Given the description of an element on the screen output the (x, y) to click on. 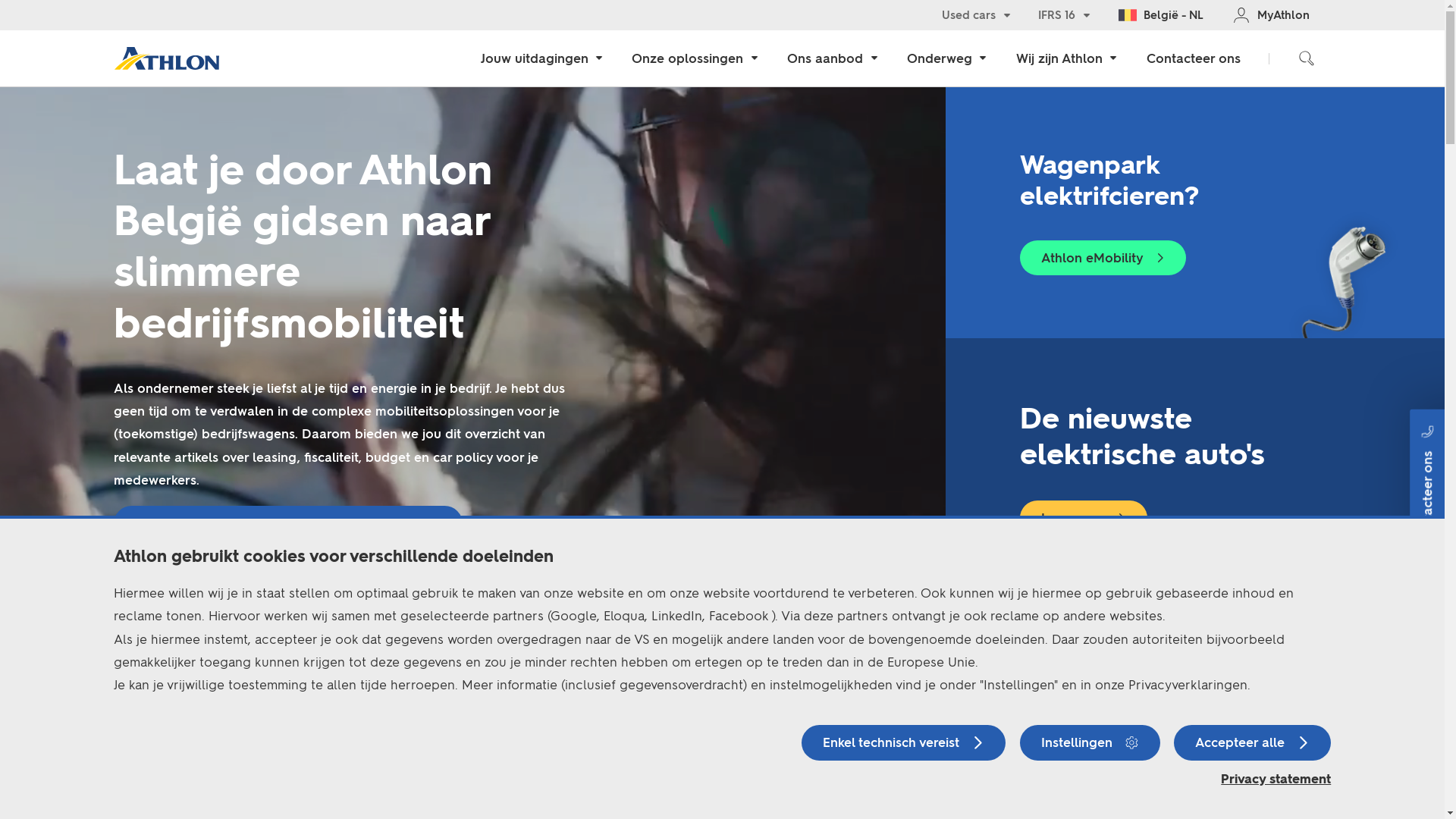
Ons aanbod Element type: text (832, 58)
Zoeken Element type: text (1307, 58)
Contacteer ons Element type: text (1193, 58)
Wij zijn Athlon Element type: text (1066, 58)
De nieuwste elektrische auto's
Lees meer Element type: text (1194, 468)
MyAthlon Element type: text (1270, 15)
Privacy statement Element type: text (1275, 778)
Onderweg Element type: text (946, 58)
Wagenpark elektrifcieren?
Athlon eMobility Element type: text (1194, 212)
Accepteer alle Element type: text (1251, 742)
Jouw uitdagingen Element type: text (541, 58)
Onze oplossingen Element type: text (695, 58)
Enkel technisch vereist Element type: text (903, 742)
Share Element type: hover (472, 342)
Instellingen Element type: text (1089, 742)
Mobiliteit voor jouw bedrijf en je medewerkers Element type: text (287, 523)
